Given the description of an element on the screen output the (x, y) to click on. 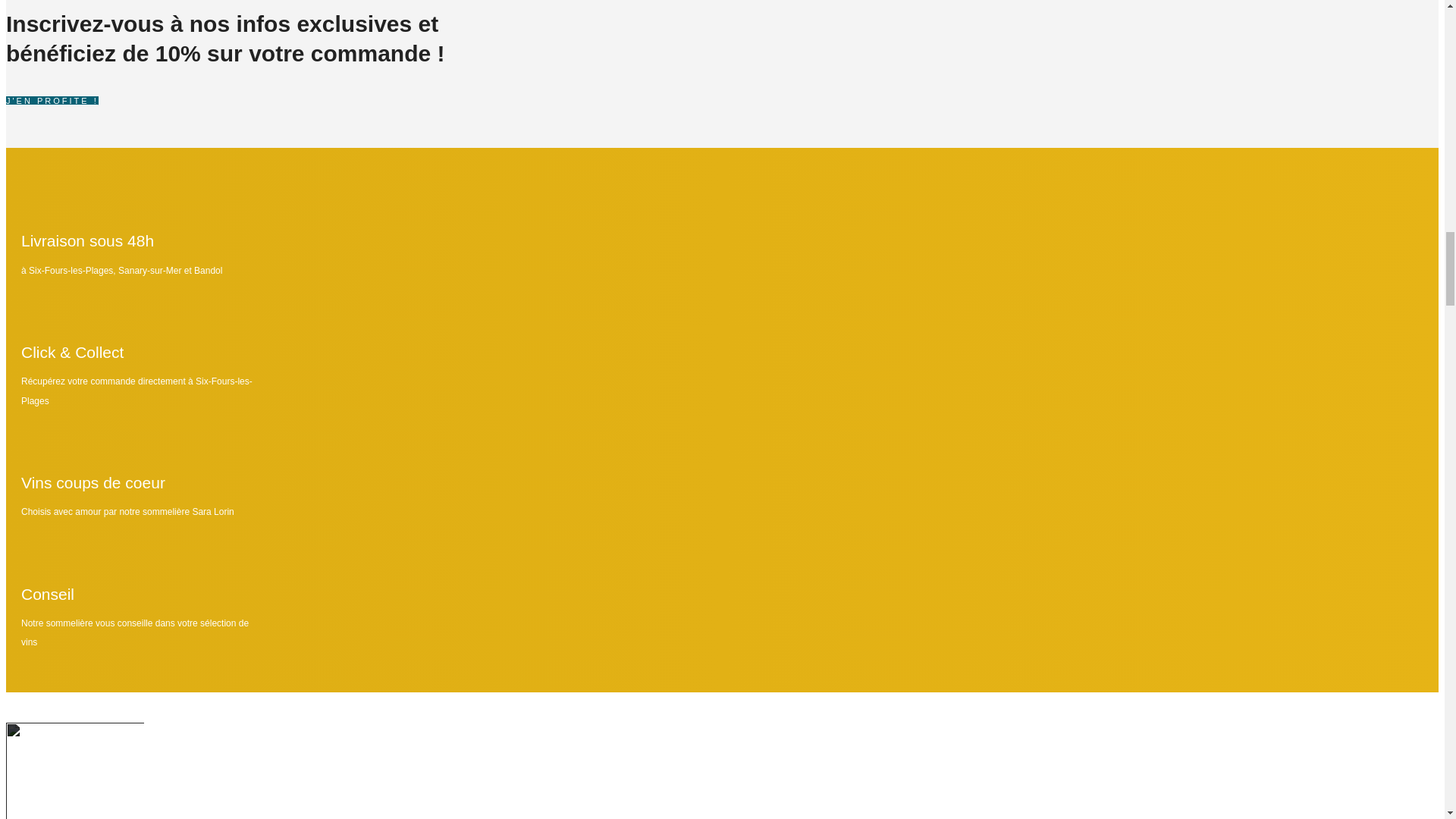
J'EN PROFITE ! (240, 99)
